Given the description of an element on the screen output the (x, y) to click on. 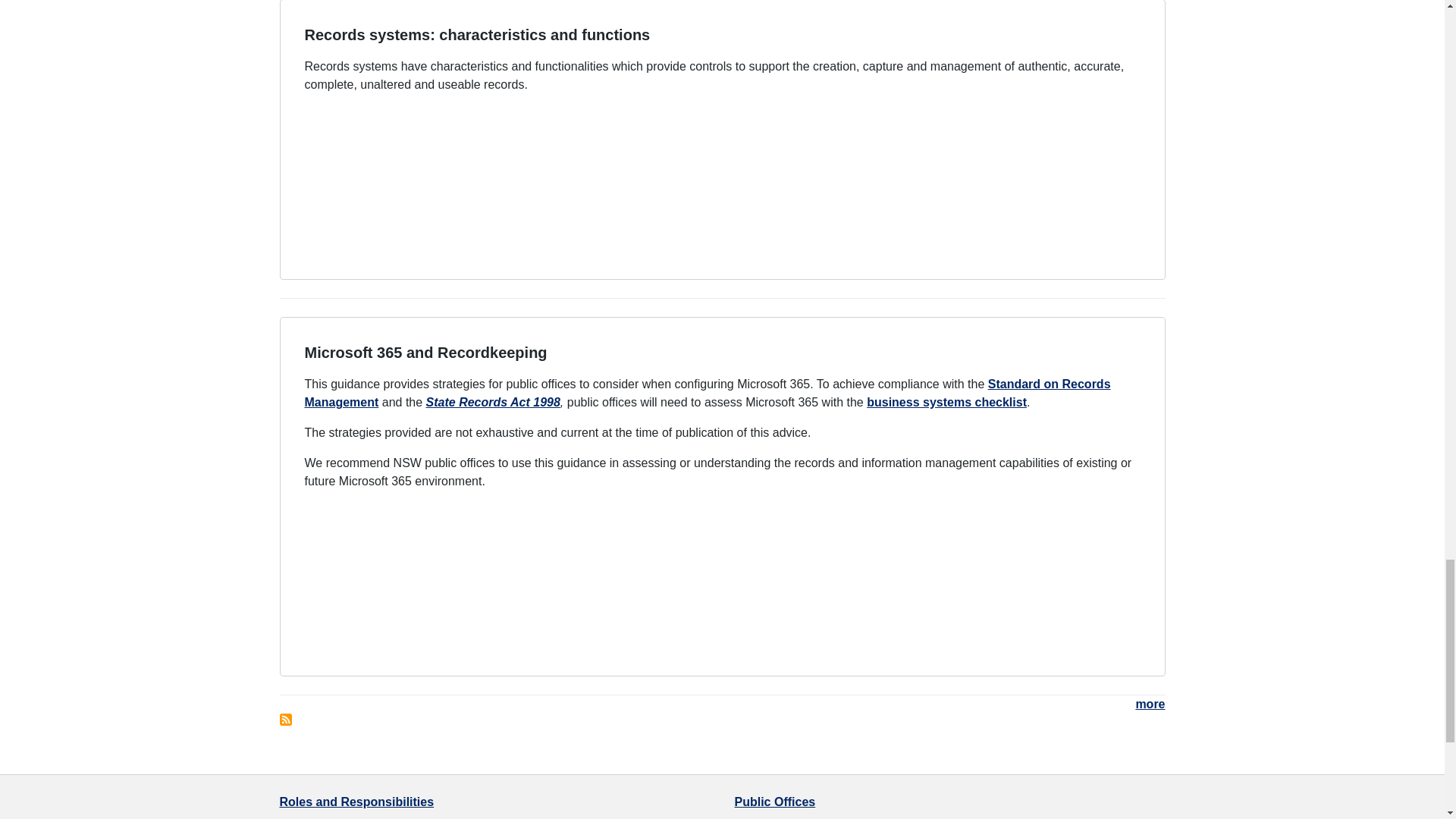
Resources for chief executives (317, 818)
